Given the description of an element on the screen output the (x, y) to click on. 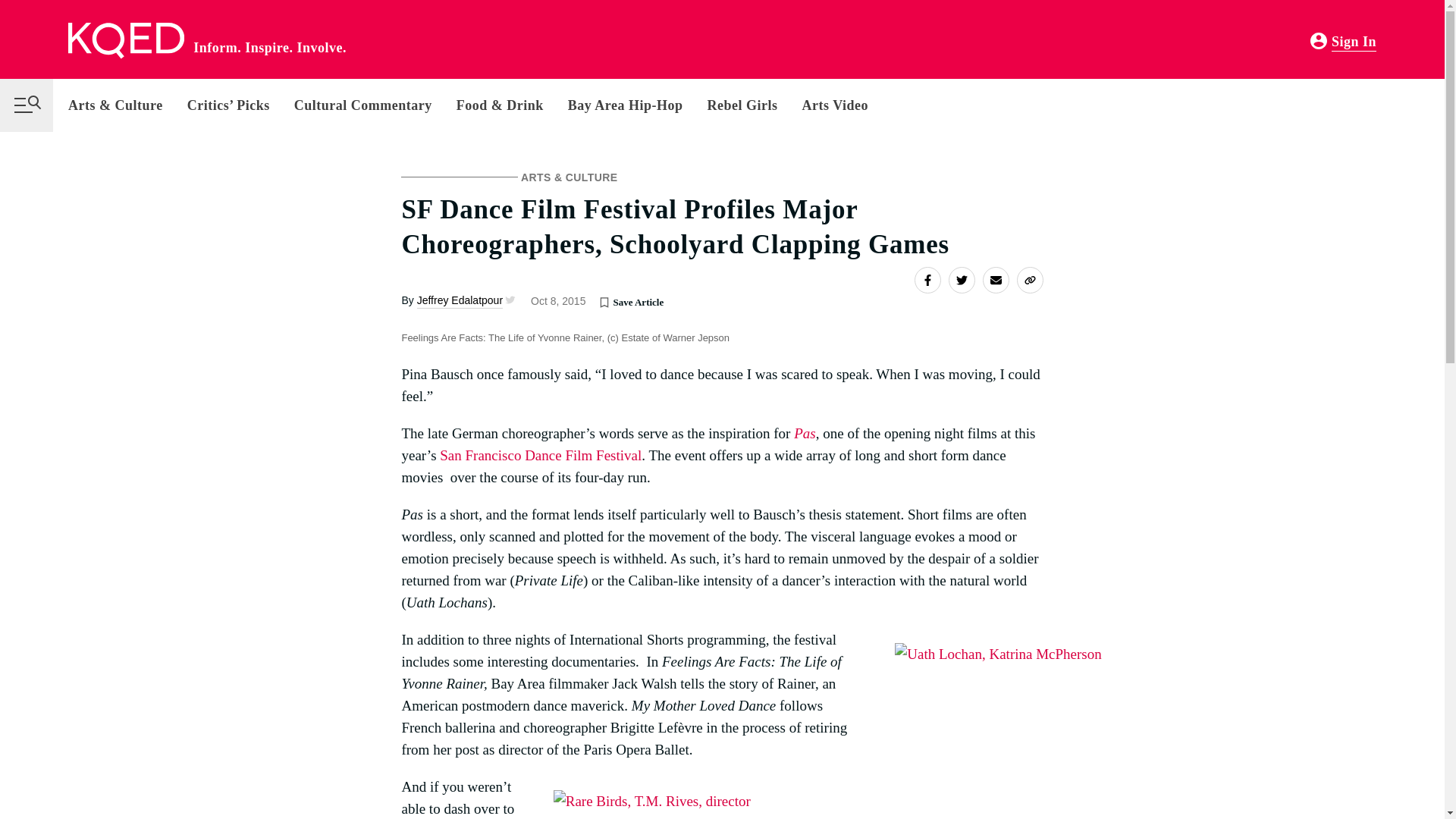
KQED (126, 40)
KQED (126, 40)
Save Article (603, 302)
Jeffrey Edalatpour on Twitter (508, 300)
